Given the description of an element on the screen output the (x, y) to click on. 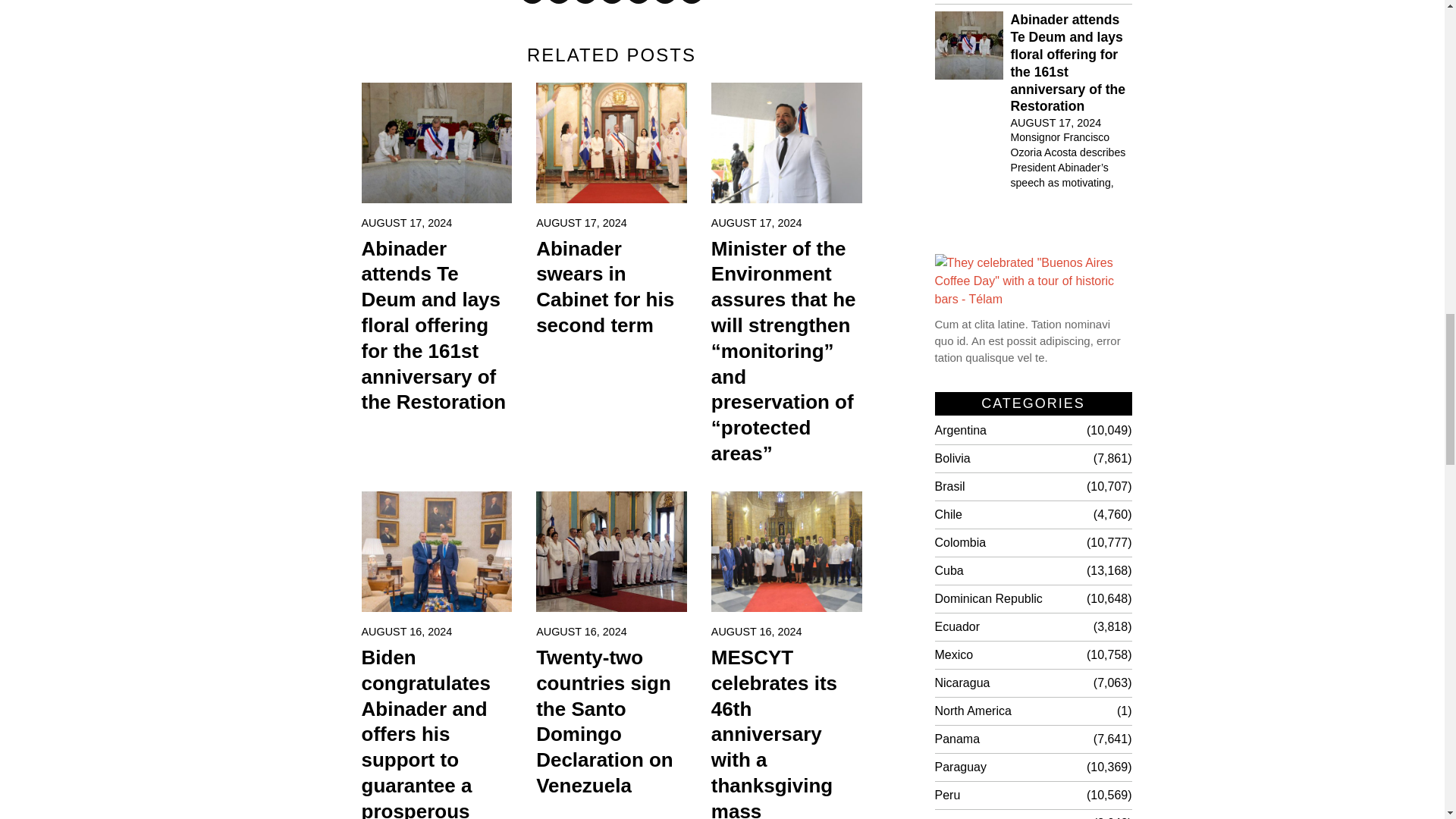
16 Aug, 2024 23:41:42 (406, 631)
17 Aug, 2024 02:19:47 (581, 222)
17 Aug, 2024 01:55:45 (756, 222)
16 Aug, 2024 21:31:32 (756, 631)
17 Aug, 2024 03:12:48 (406, 222)
16 Aug, 2024 22:02:37 (581, 631)
